Given the description of an element on the screen output the (x, y) to click on. 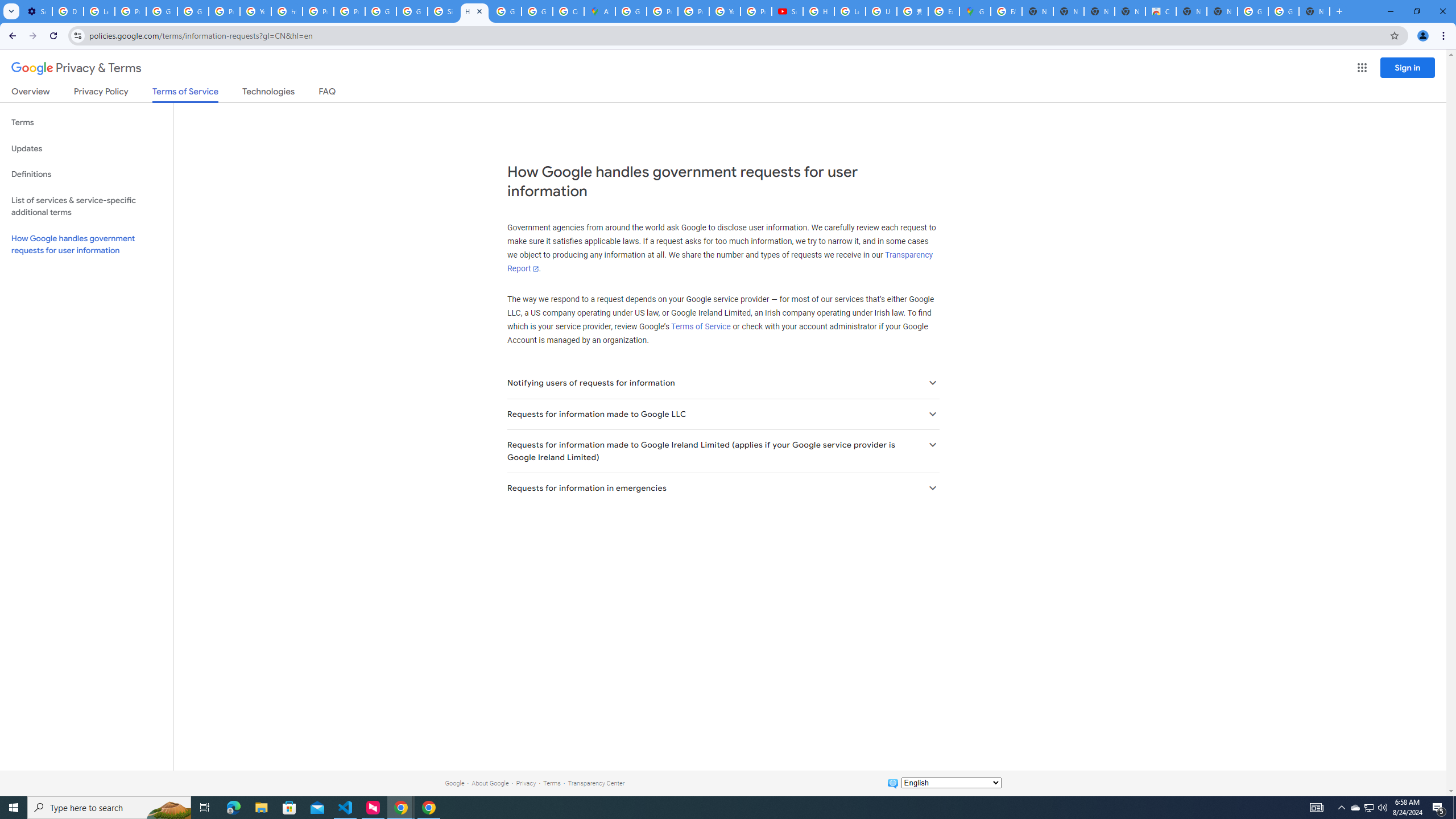
Notifying users of requests for information (722, 382)
Privacy Help Center - Policies Help (662, 11)
How Chrome protects your passwords - Google Chrome Help (818, 11)
Transparency Center (595, 783)
Transparency Report (719, 262)
